Given the description of an element on the screen output the (x, y) to click on. 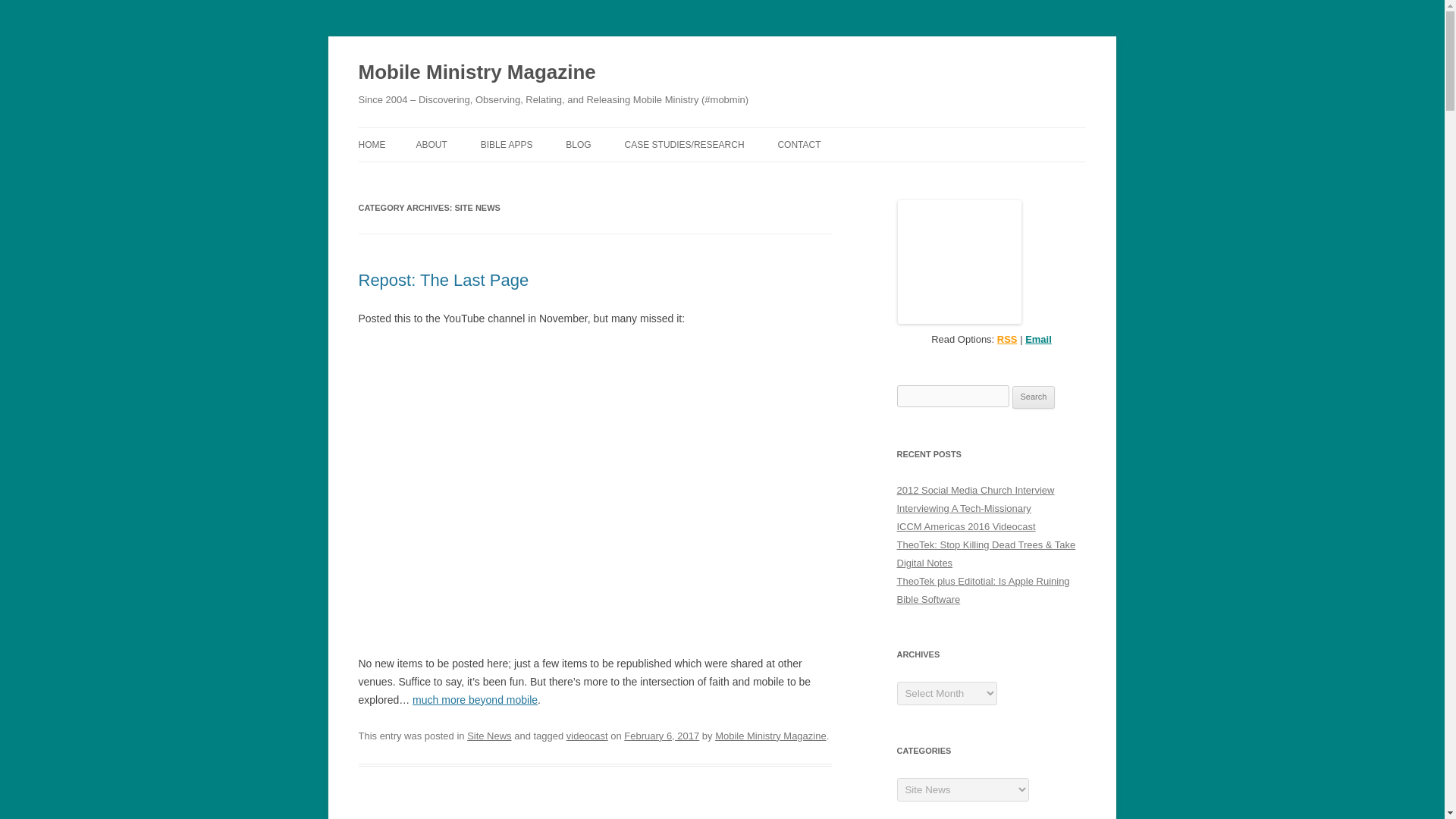
ABOUT (430, 144)
videocast (587, 736)
Mobile Ministry Magazine (770, 736)
Search (1033, 396)
5:00 pm (661, 736)
BIBLE APPS (506, 144)
View all posts by Mobile Ministry Magazine (770, 736)
SERVICES (555, 176)
